Given the description of an element on the screen output the (x, y) to click on. 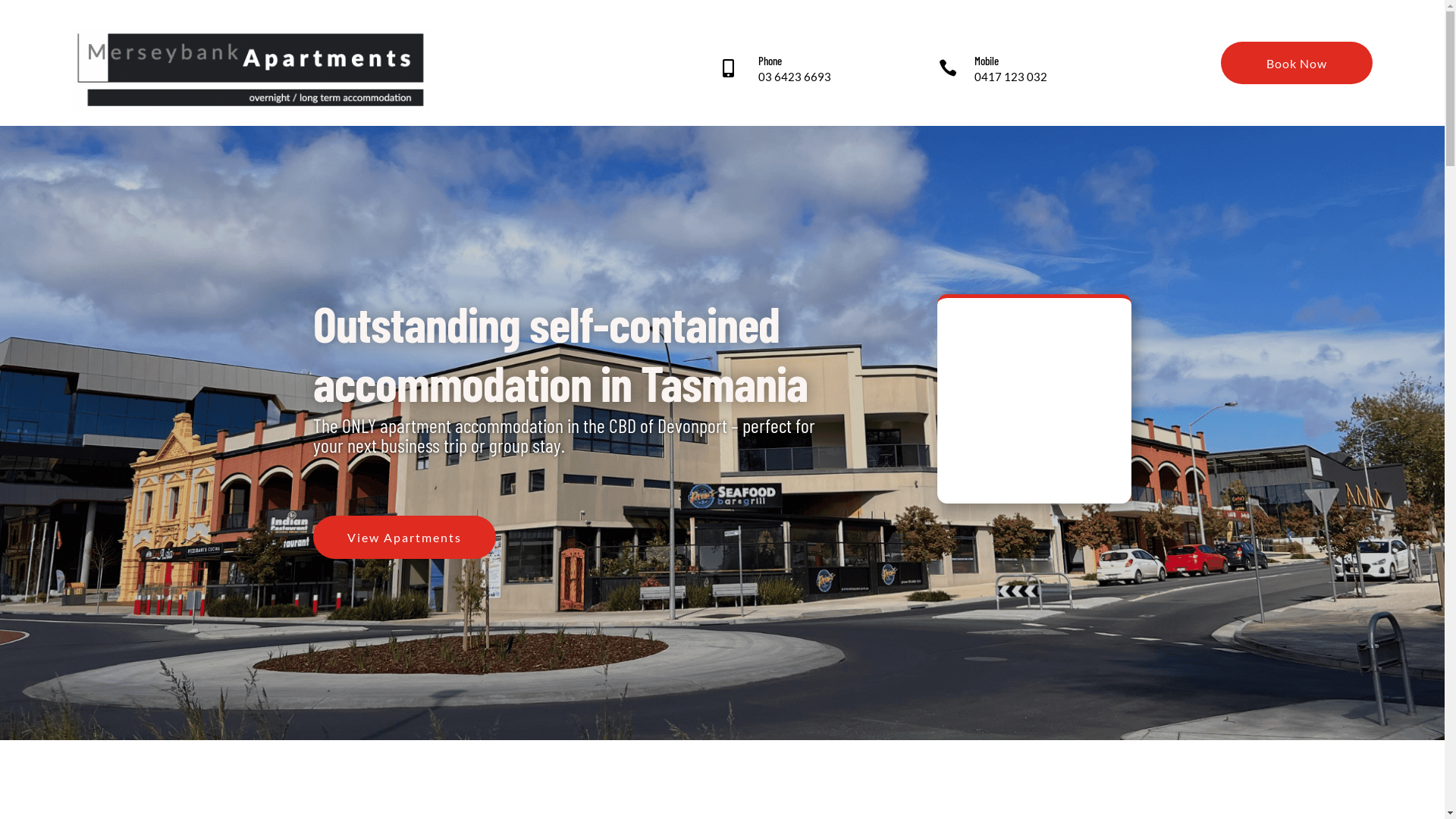
Screen Shot 2022-08-22 at 7.42.09 pm Element type: hover (250, 69)
Book Now Element type: text (1296, 62)
View Apartments Element type: text (403, 536)
